Given the description of an element on the screen output the (x, y) to click on. 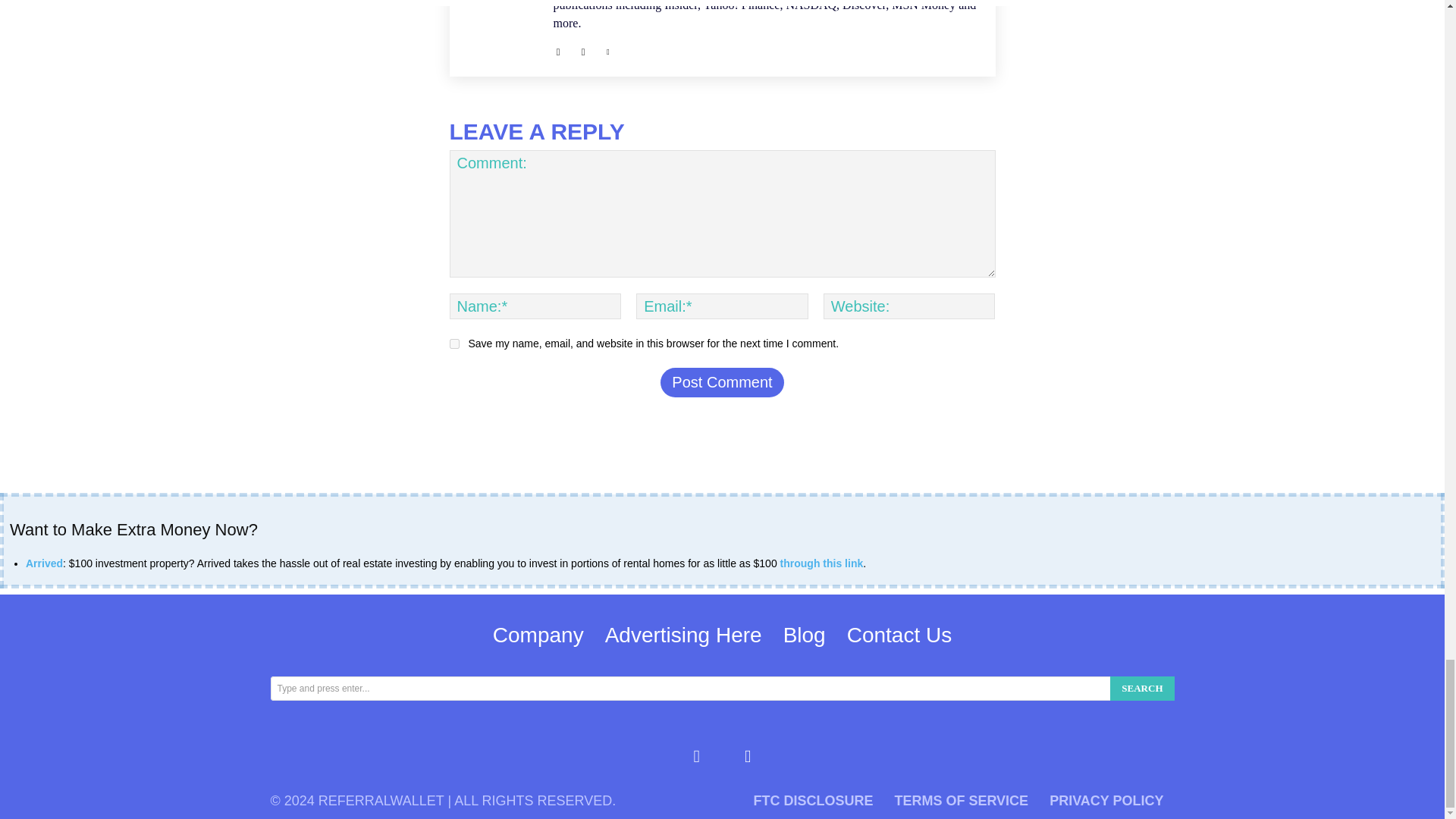
Facebook (558, 48)
Brian Meiggs (501, 30)
Instagram (583, 48)
yes (453, 343)
Post Comment (722, 382)
Twitter (608, 48)
